Given the description of an element on the screen output the (x, y) to click on. 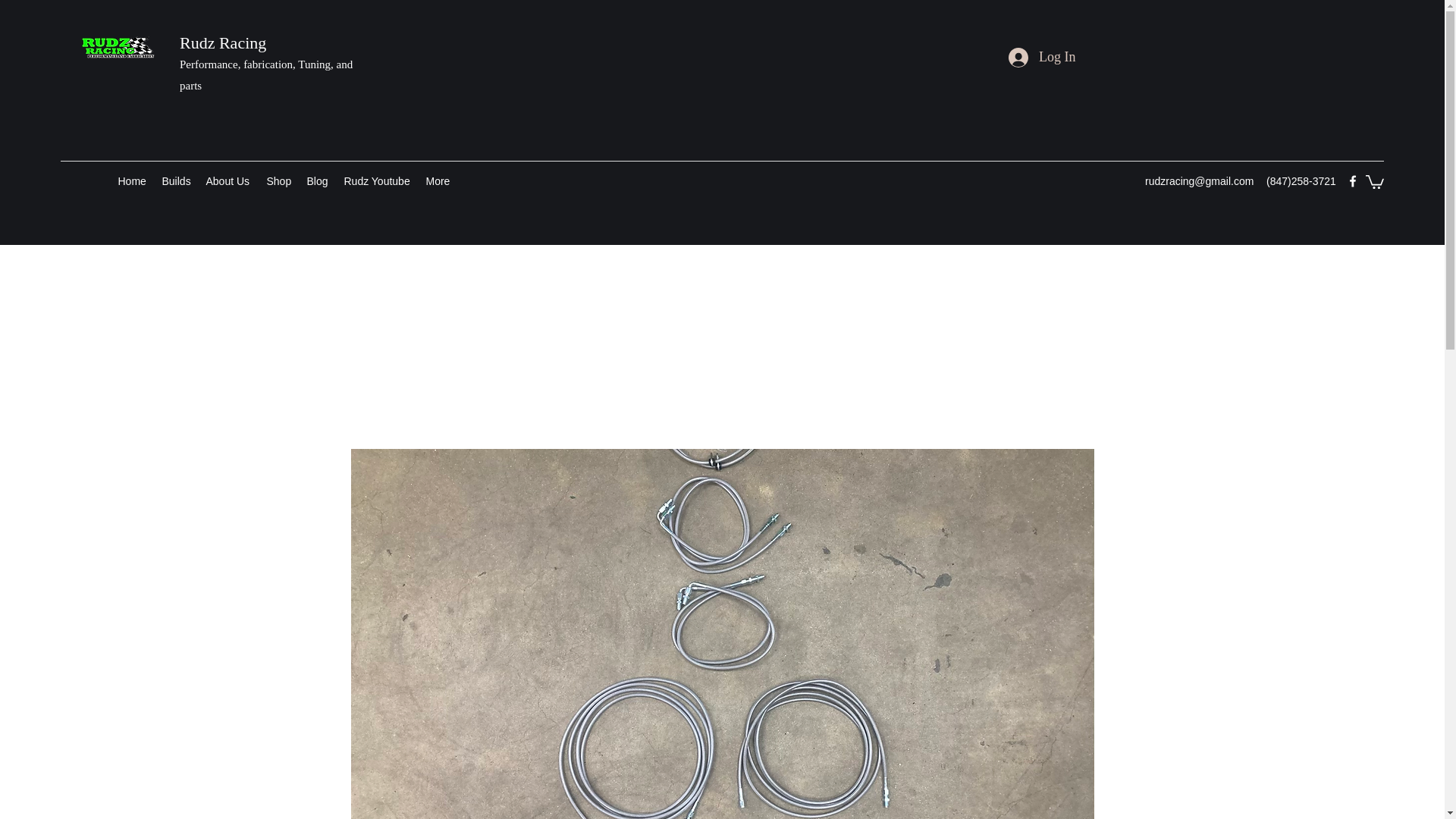
Blog (317, 180)
Rudz Youtube (377, 180)
About Us (228, 180)
Log In (1041, 57)
Home (132, 180)
Builds (176, 180)
Rudz Racing (222, 42)
